Given the description of an element on the screen output the (x, y) to click on. 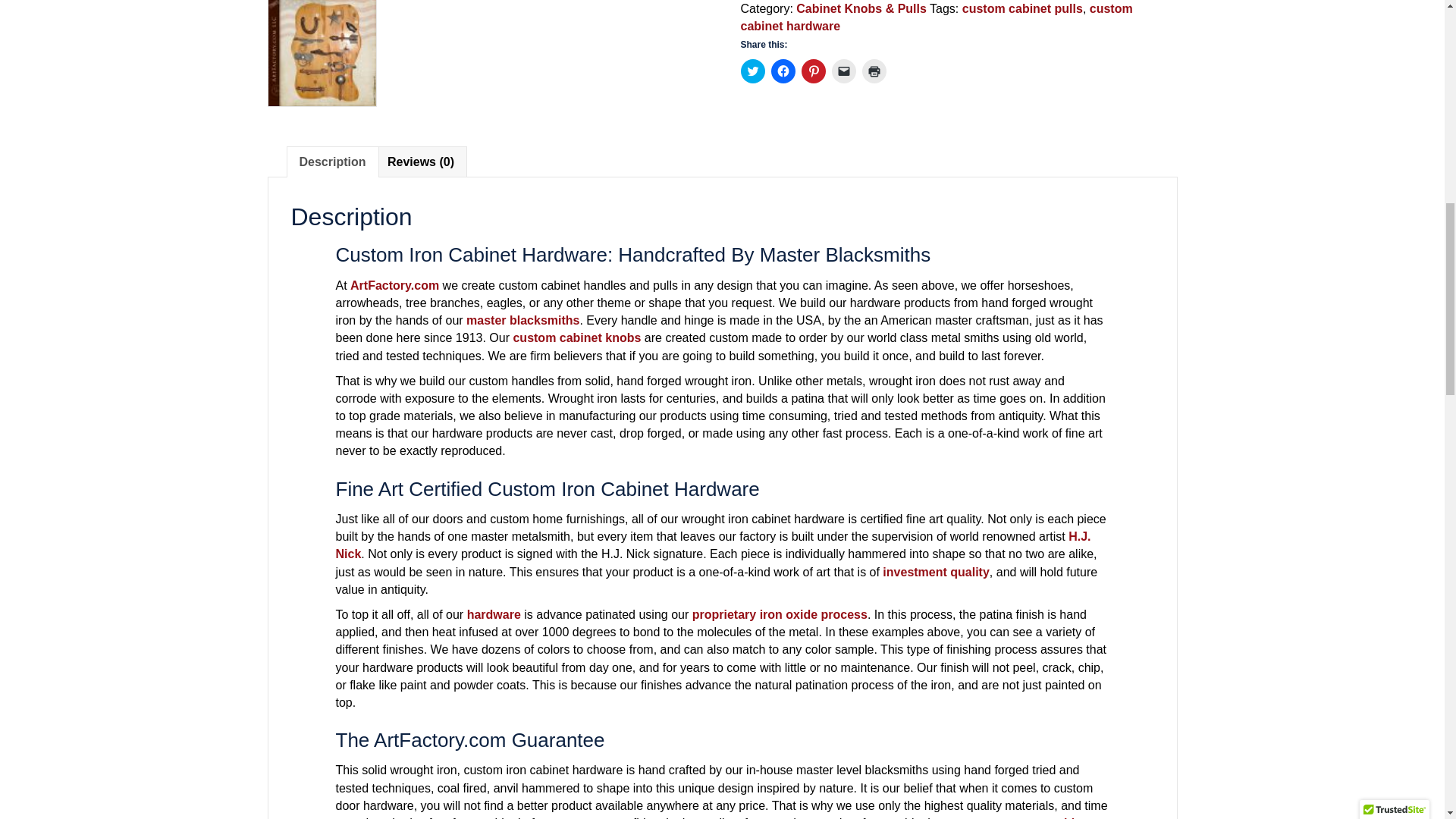
Click to share on Pinterest (812, 70)
Click to share on Twitter (751, 70)
Click to share on Facebook (782, 70)
Click to print (873, 70)
Click to email a link to a friend (843, 70)
